Given the description of an element on the screen output the (x, y) to click on. 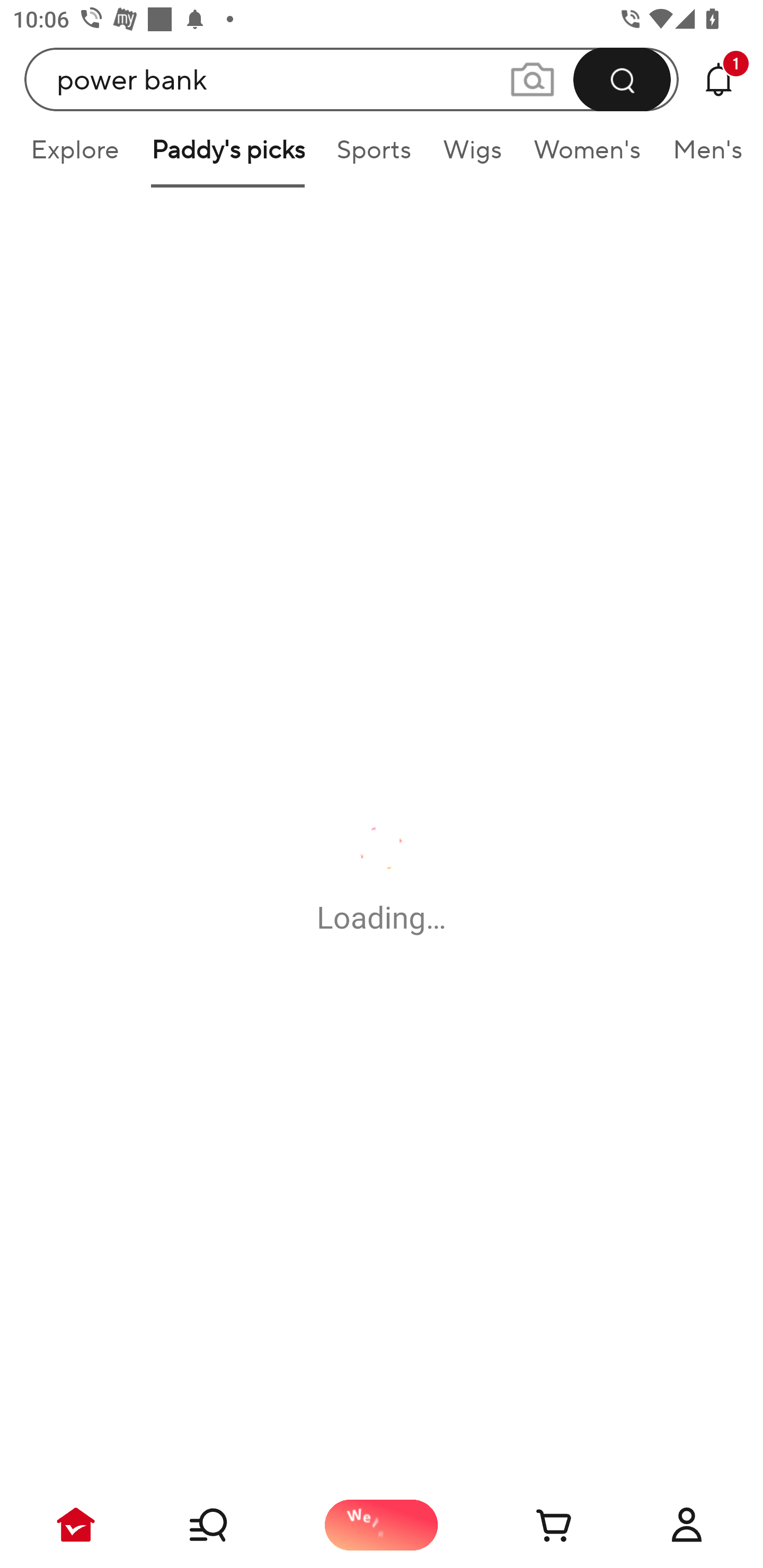
power bank (351, 79)
Explore (74, 155)
Sports (373, 155)
Wigs (472, 155)
Women's (586, 155)
Men's (701, 155)
Shop (228, 1524)
Cart (533, 1524)
Account (686, 1524)
